Given the description of an element on the screen output the (x, y) to click on. 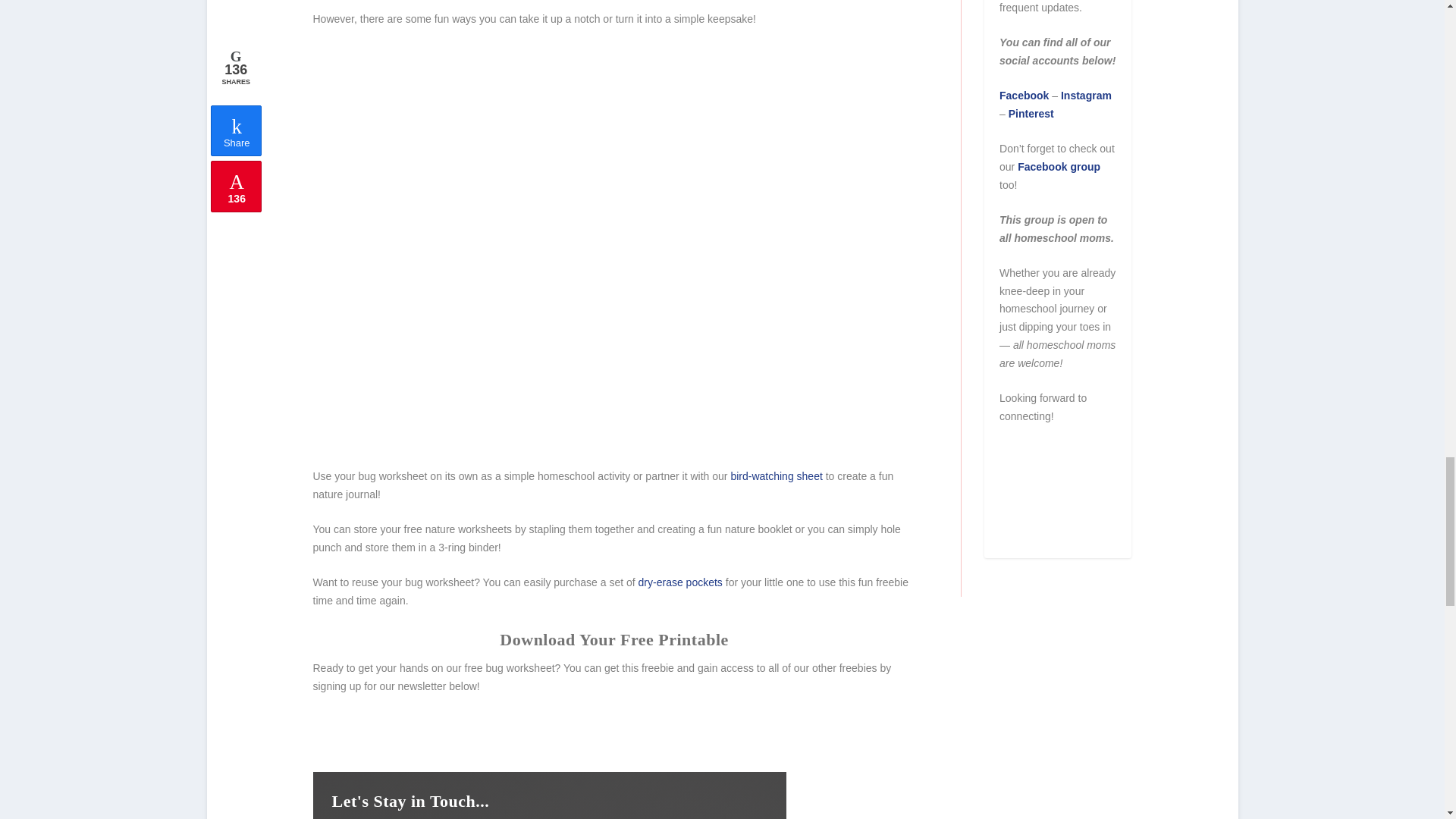
bird-watching sheet (776, 476)
dry-erase pockets (680, 582)
